Given the description of an element on the screen output the (x, y) to click on. 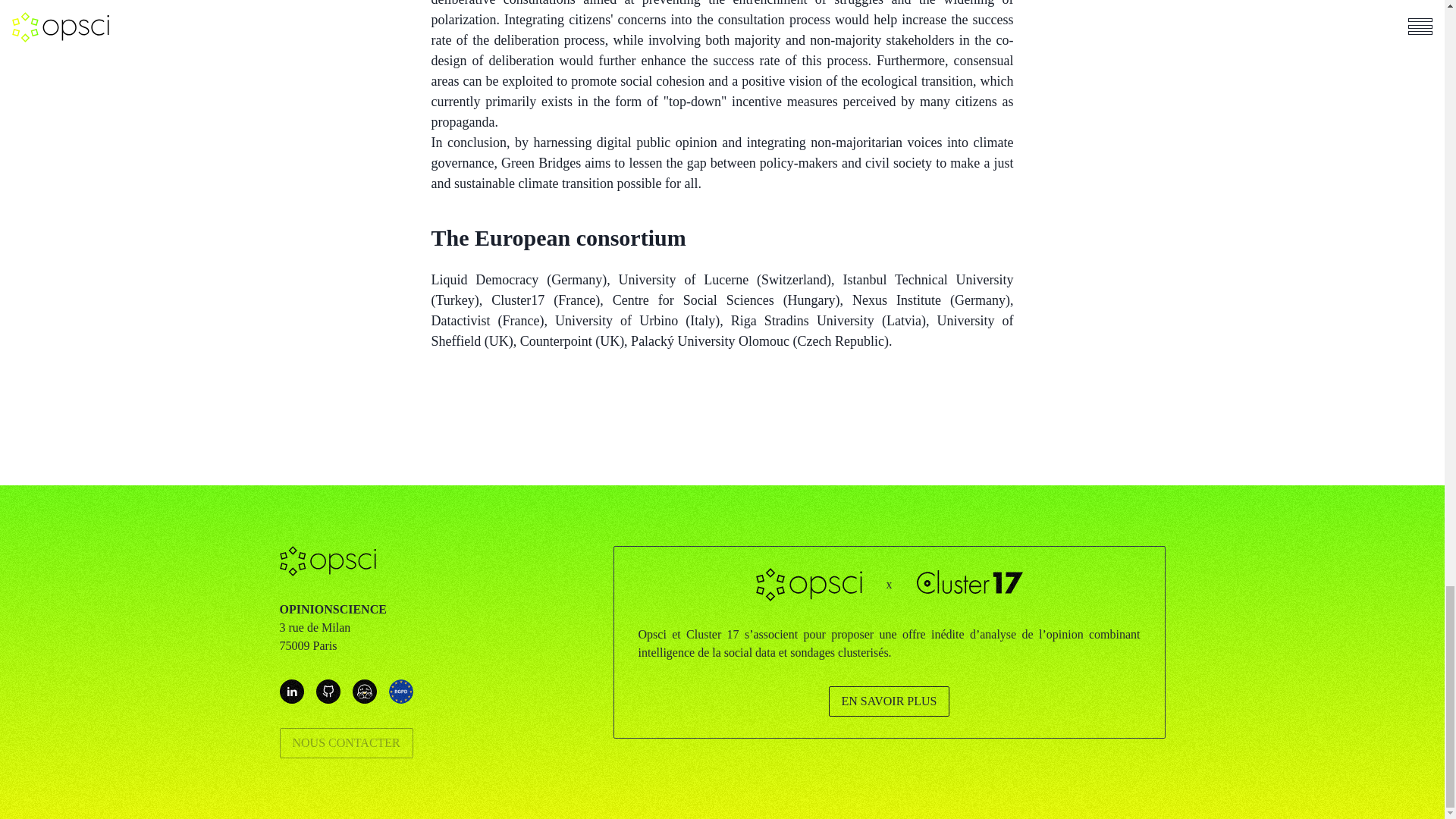
EN SAVOIR PLUS (889, 701)
NOUS CONTACTER (345, 743)
